Given the description of an element on the screen output the (x, y) to click on. 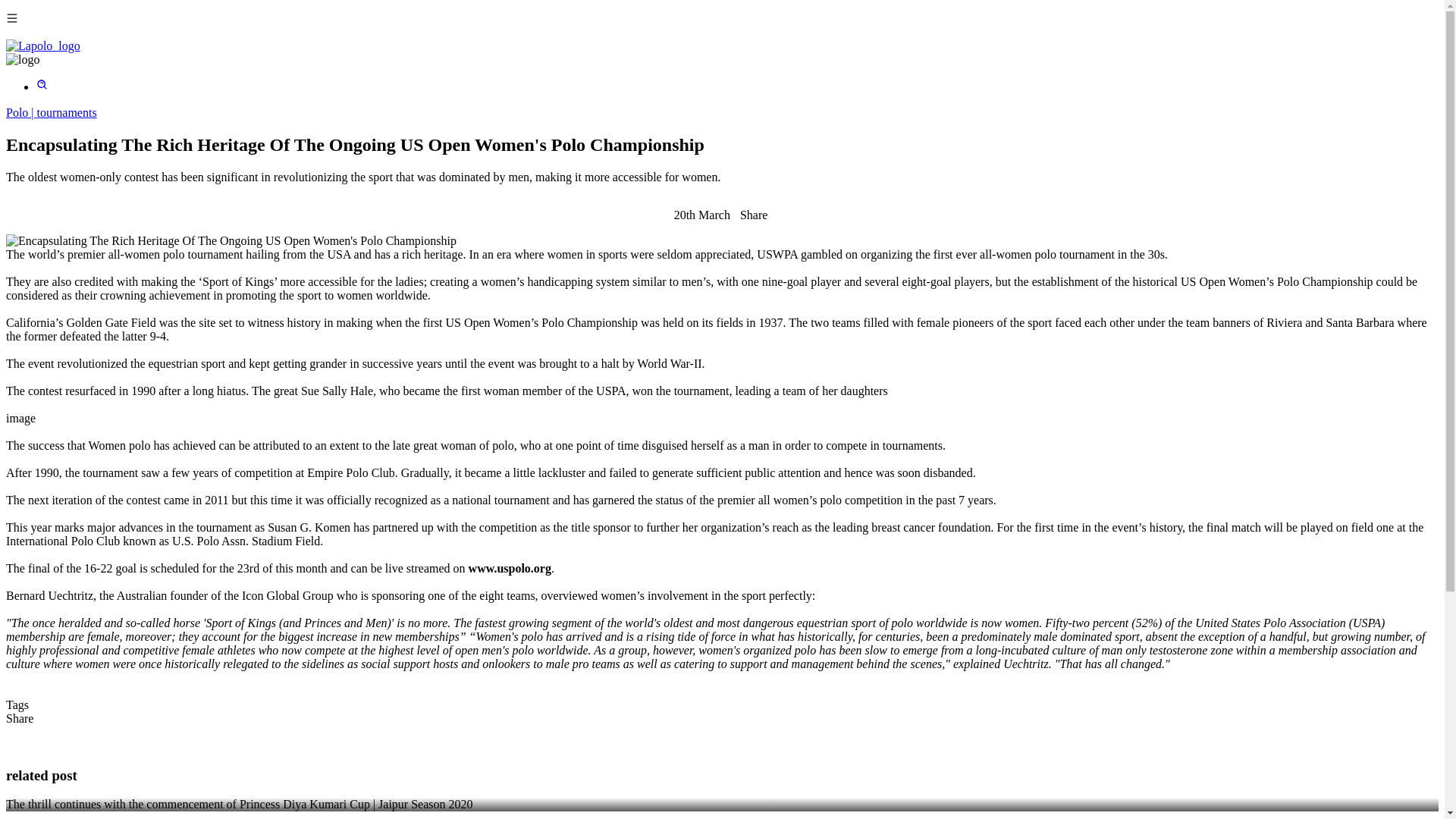
tournaments (67, 112)
